Given the description of an element on the screen output the (x, y) to click on. 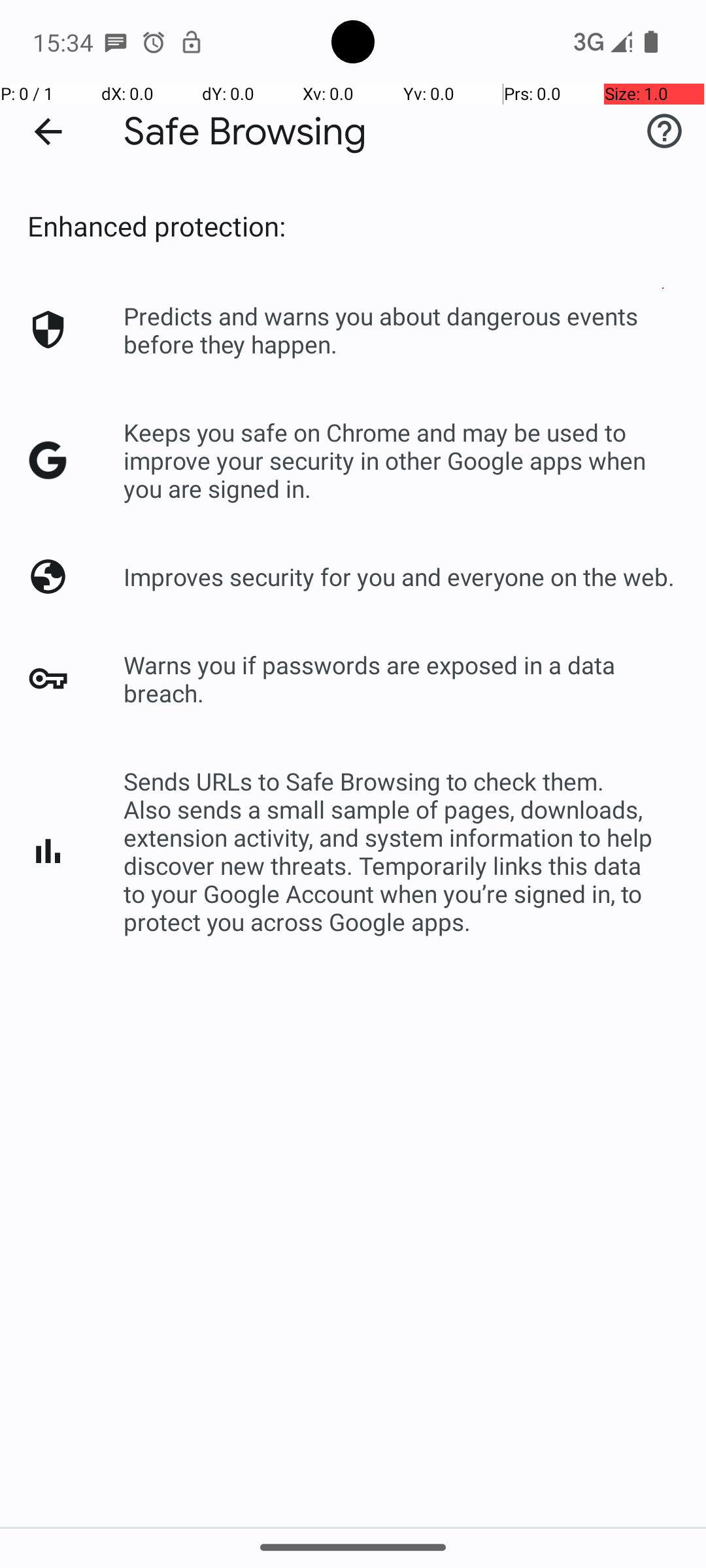
Enhanced protection: Element type: android.widget.TextView (156, 225)
Predicts and warns you about dangerous events before they happen. Element type: android.widget.TextView (400, 329)
Keeps you safe on Chrome and may be used to improve your security in other Google apps when you are signed in. Element type: android.widget.TextView (400, 460)
Improves security for you and everyone on the web. Element type: android.widget.TextView (399, 576)
Warns you if passwords are exposed in a data breach. Element type: android.widget.TextView (400, 678)
Sends URLs to Safe Browsing to check them. Also sends a small sample of pages, downloads, extension activity, and system information to help discover new threats. Temporarily links this data to your Google Account when you’re signed in, to protect you across Google apps. Element type: android.widget.TextView (400, 851)
